Given the description of an element on the screen output the (x, y) to click on. 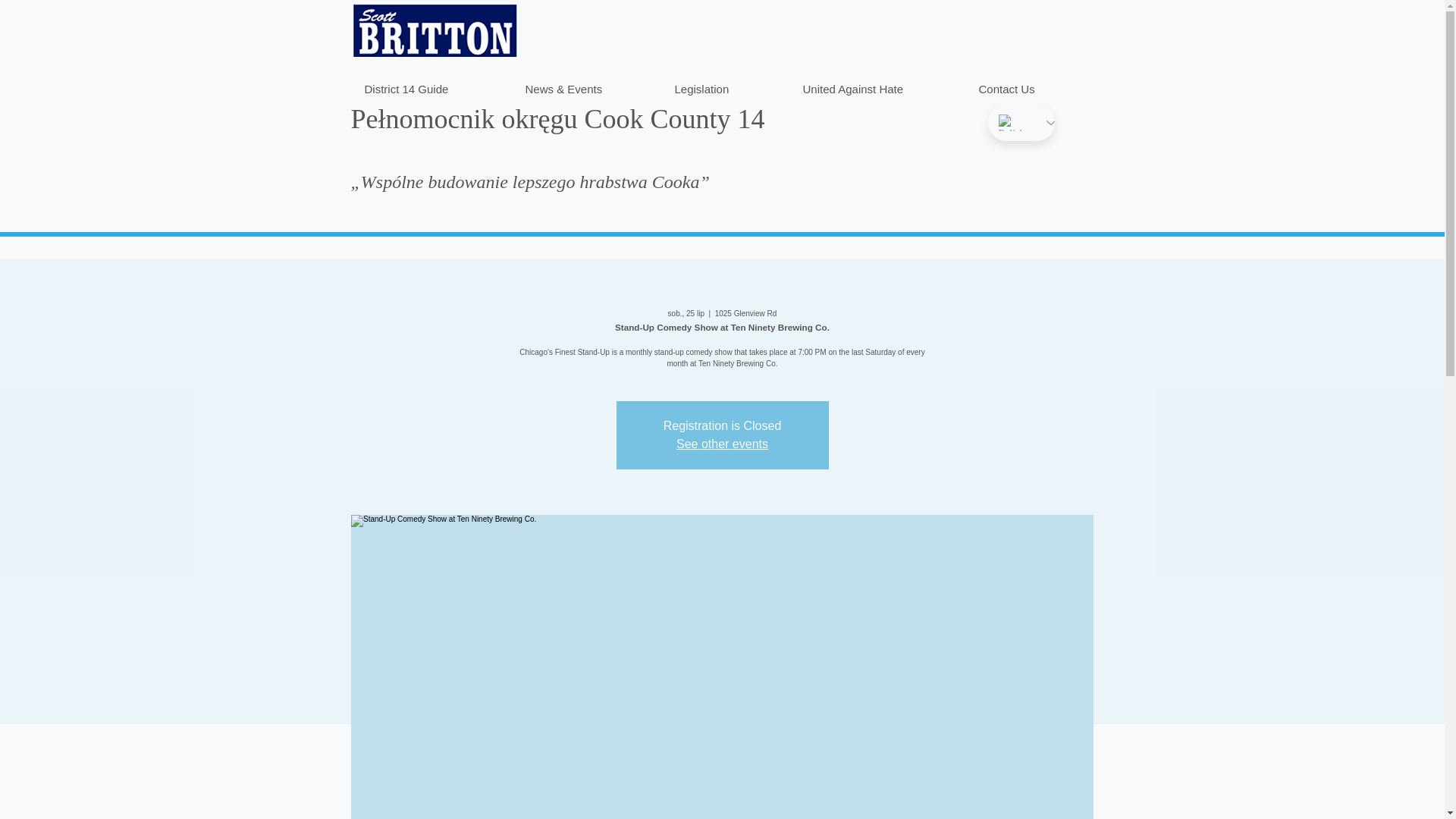
United Against Hate (876, 82)
Legislation (725, 82)
Contact Us (1028, 82)
See other events (722, 443)
District 14 Guide (430, 82)
